Given the description of an element on the screen output the (x, y) to click on. 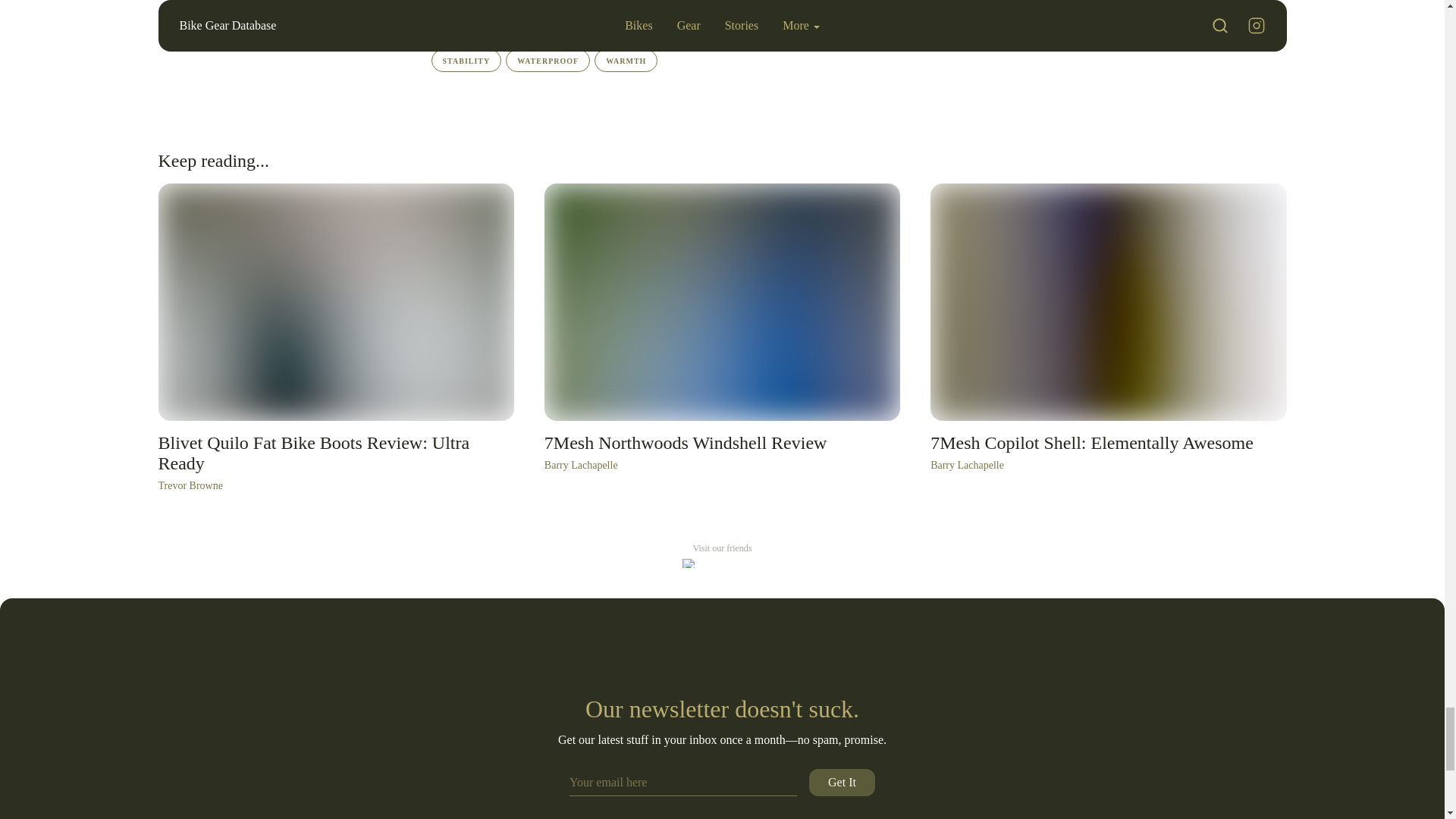
MOUNTAINBIKING (724, 8)
CLIPLESS (574, 8)
ENDURO (460, 8)
APPAREL (910, 33)
STABILITY (465, 60)
BOA (516, 8)
DESIGN (974, 33)
CYCLING (682, 33)
WATERPROOF (547, 60)
GEAR (622, 33)
